Given the description of an element on the screen output the (x, y) to click on. 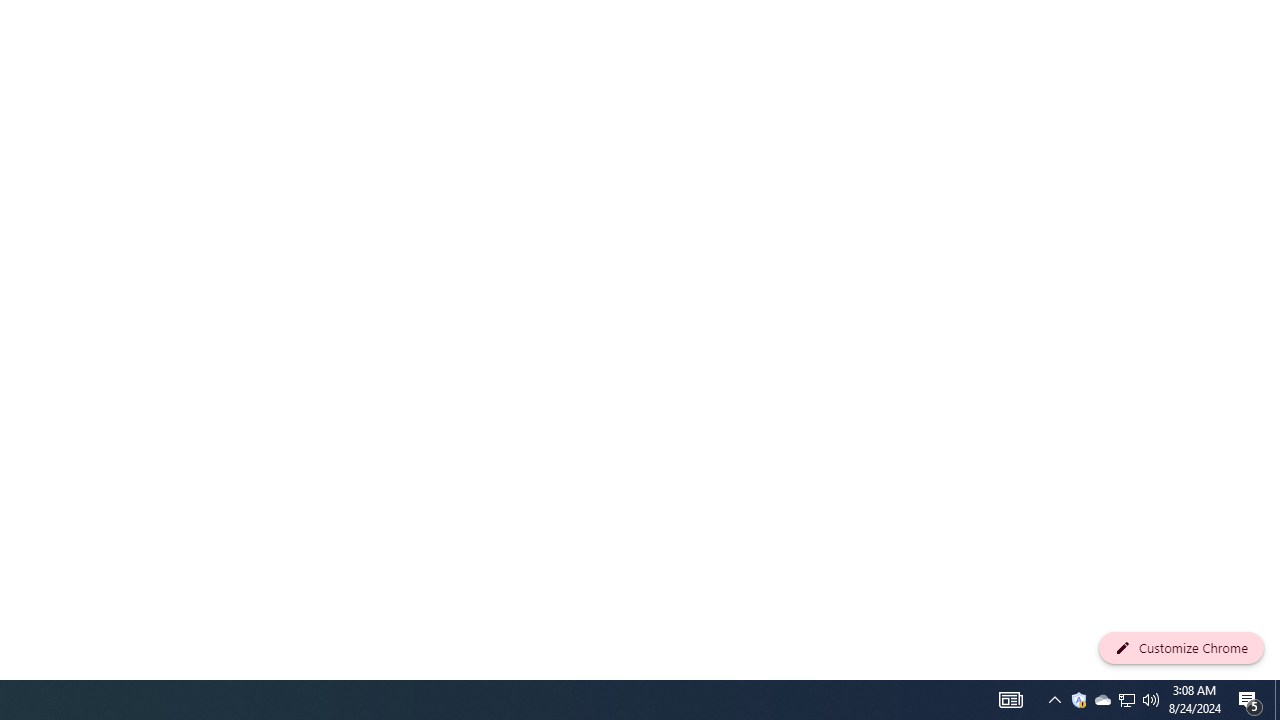
Customize Chrome (1181, 647)
